Given the description of an element on the screen output the (x, y) to click on. 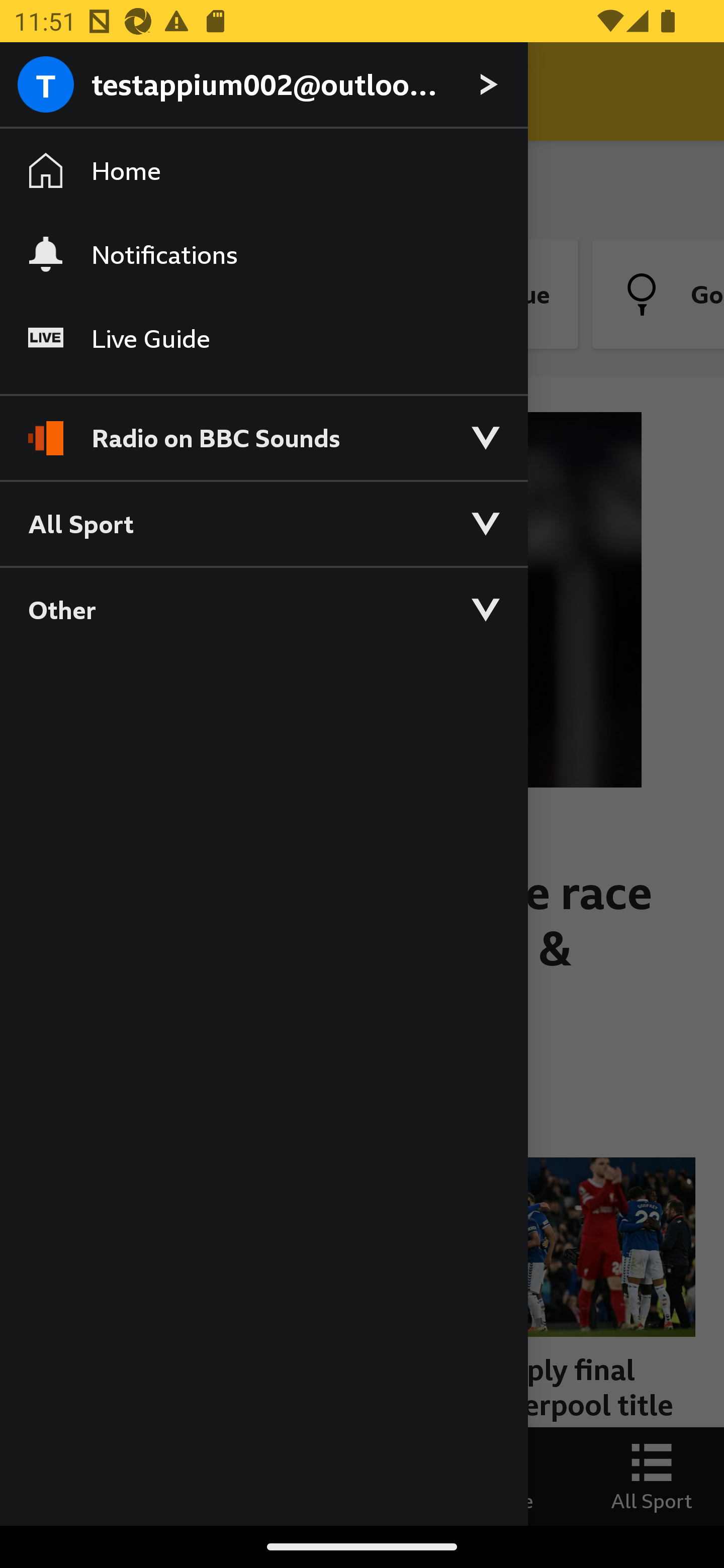
testappium002@outlook.com (263, 85)
Home (263, 170)
Notifications (263, 253)
Live Guide (263, 338)
Radio on BBC Sounds (263, 429)
All Sport (263, 522)
Other (263, 609)
